Given the description of an element on the screen output the (x, y) to click on. 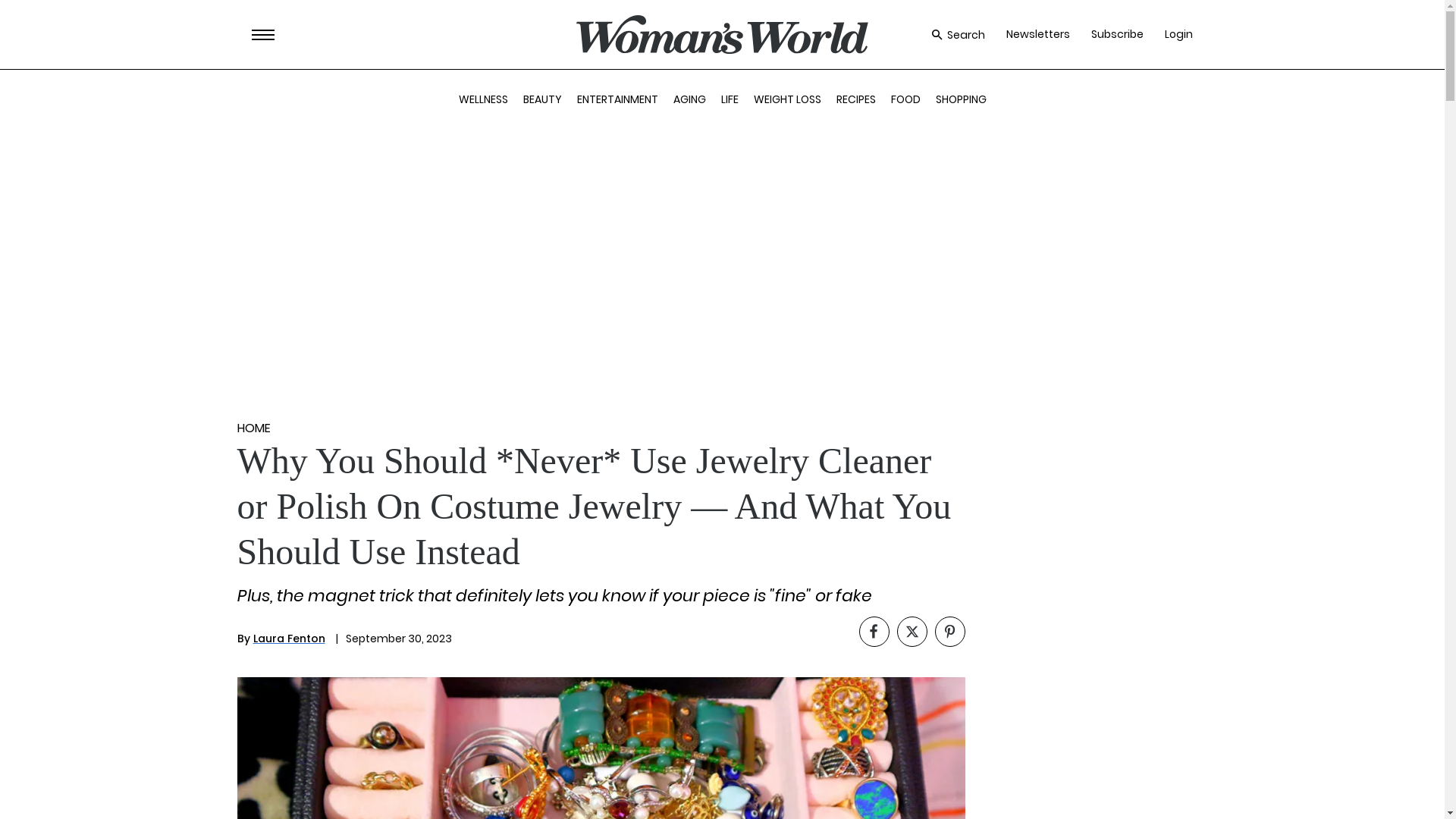
Click to share on Twitter (911, 631)
Click to share on Facebook (873, 631)
Click to share on Pinterest (948, 631)
